Given the description of an element on the screen output the (x, y) to click on. 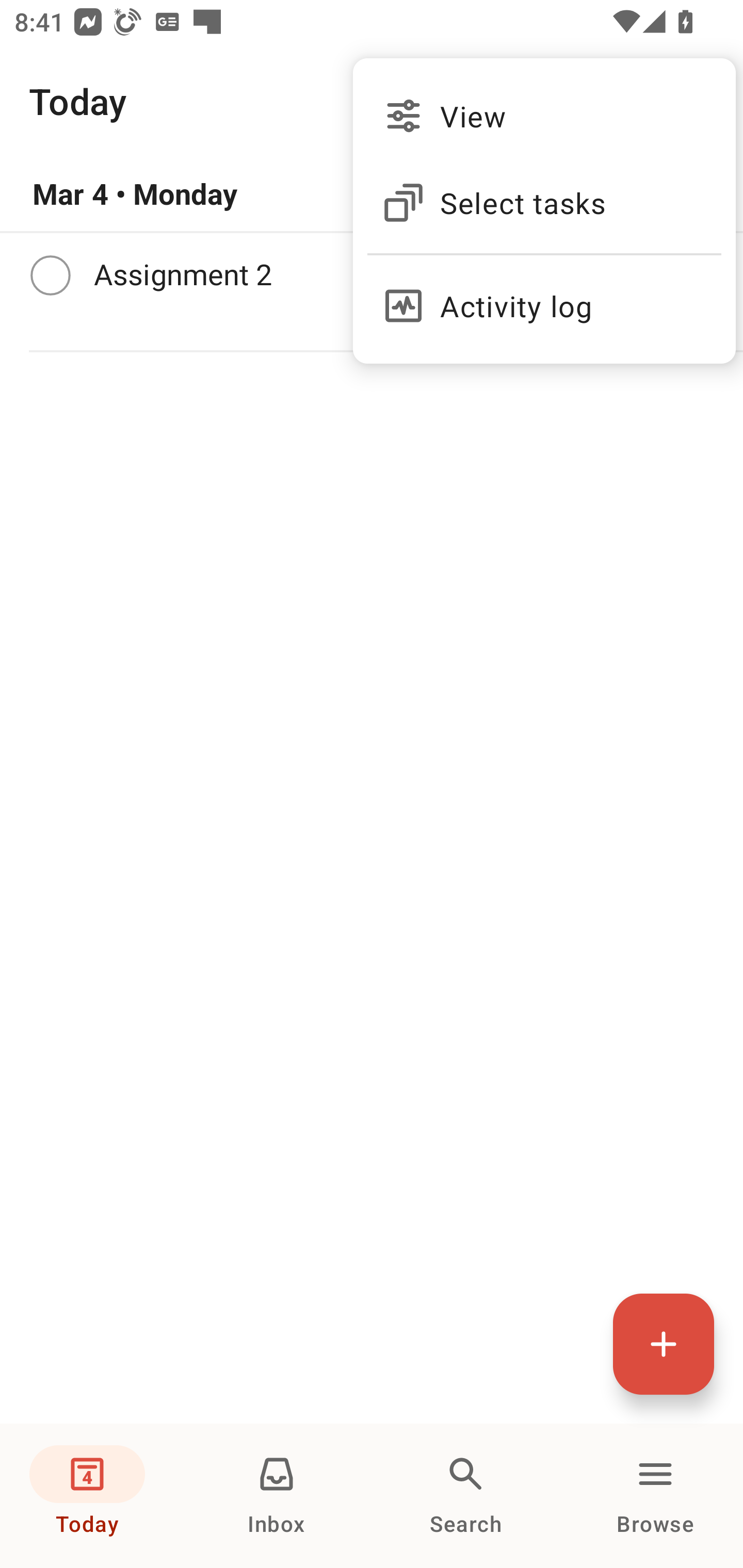
View (544, 115)
Select tasks (544, 202)
Activity log (544, 297)
